Given the description of an element on the screen output the (x, y) to click on. 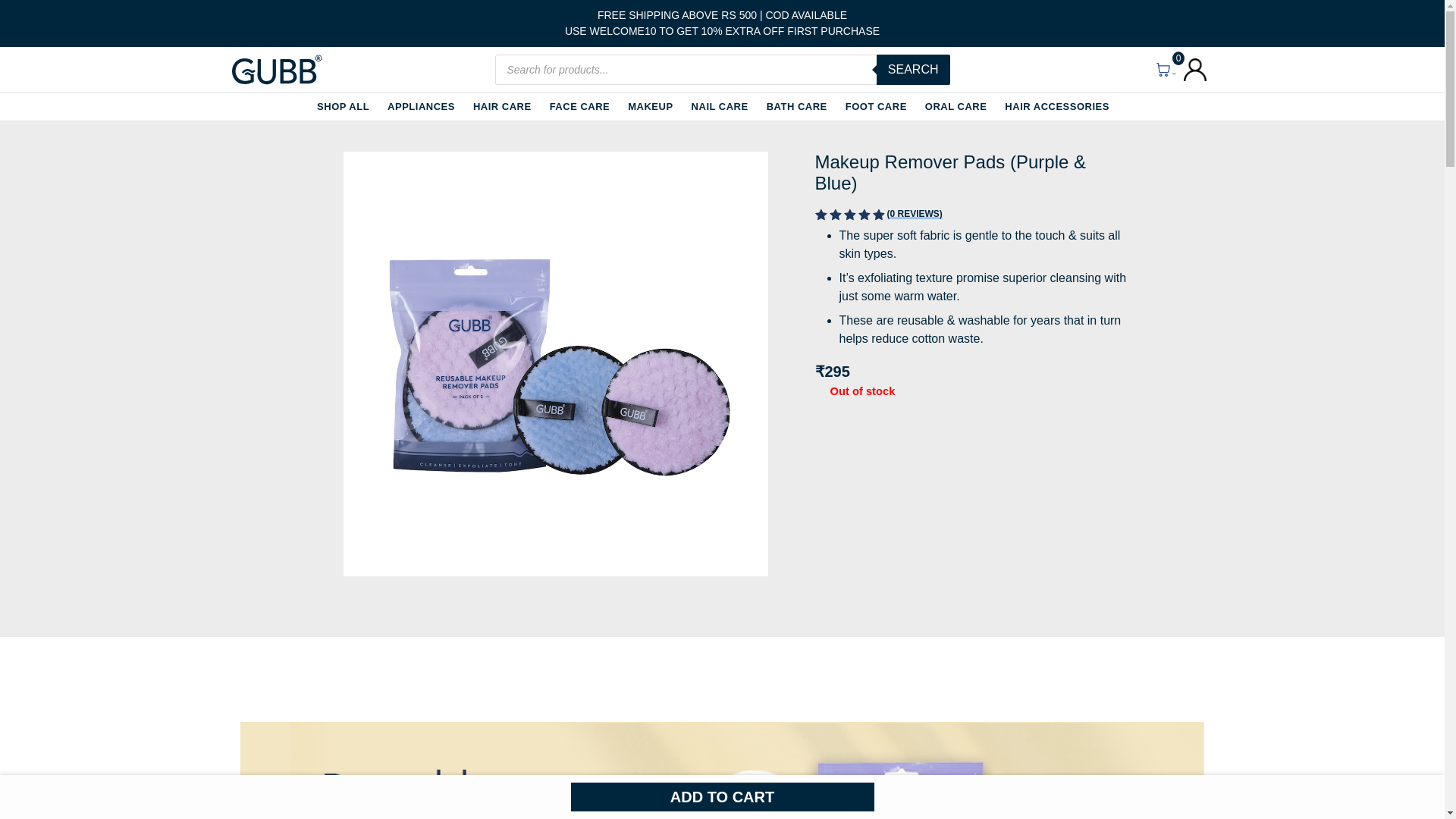
BATH CARE (797, 106)
APPLIANCES (420, 106)
MAKEUP (649, 106)
FOOT CARE (876, 106)
HAIR ACCESSORIES (1056, 106)
Add to Cart (721, 796)
0 (1165, 68)
FACE CARE (580, 106)
SHOP ALL (343, 106)
NAIL CARE (719, 106)
